Given the description of an element on the screen output the (x, y) to click on. 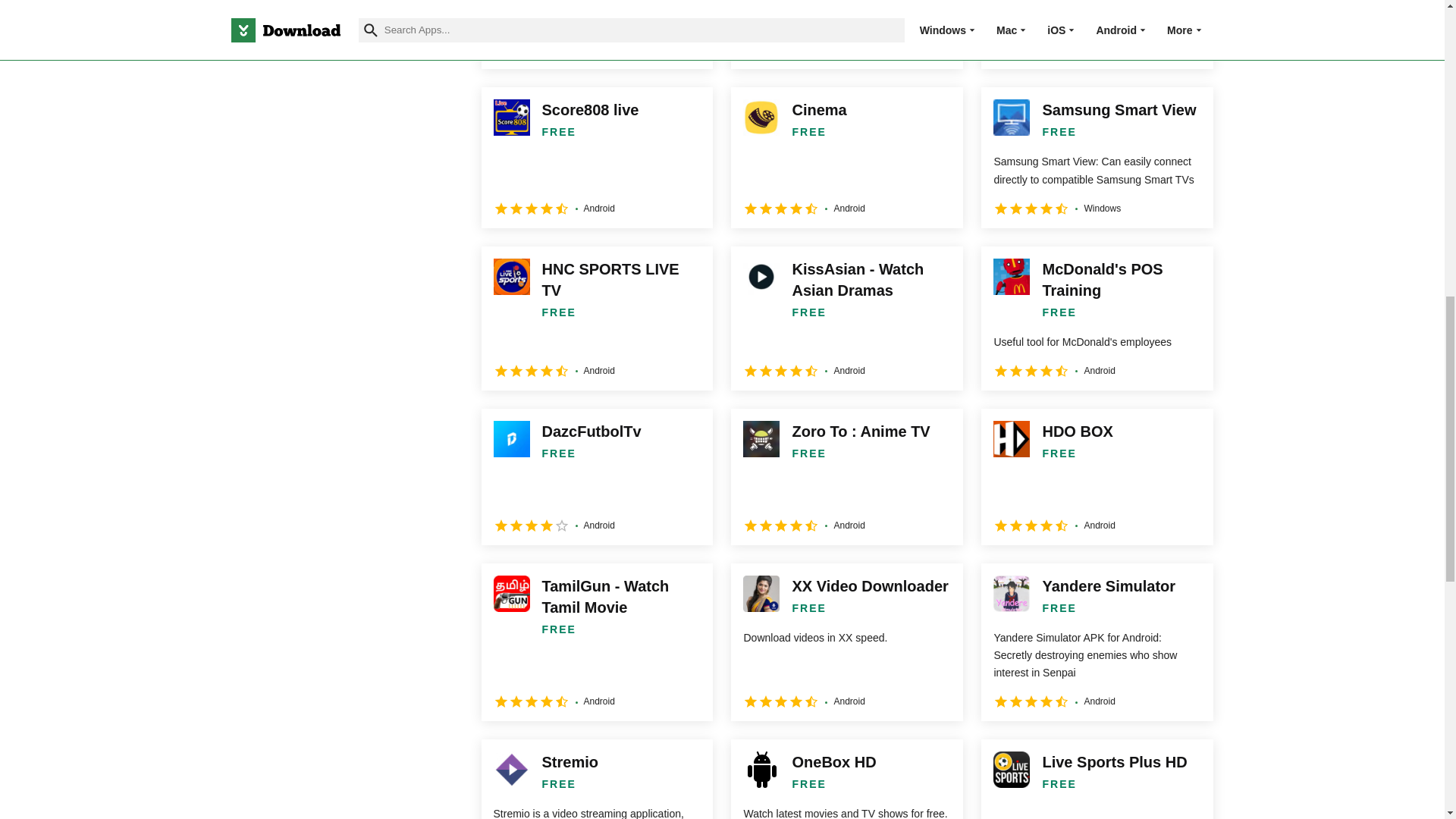
HNC SPORTS LIVE TV (596, 318)
Zoro To : Anime TV (846, 476)
Score808 live (596, 156)
Live Football - Score808 Sport (1096, 34)
TamilGun - Watch Tamil Movie (596, 642)
DazcFutbolTv (596, 476)
XX Video Downloader (846, 642)
Samsung Smart View (1096, 156)
KissAsian - Watch Asian Dramas (846, 318)
OnStream (846, 34)
